Given the description of an element on the screen output the (x, y) to click on. 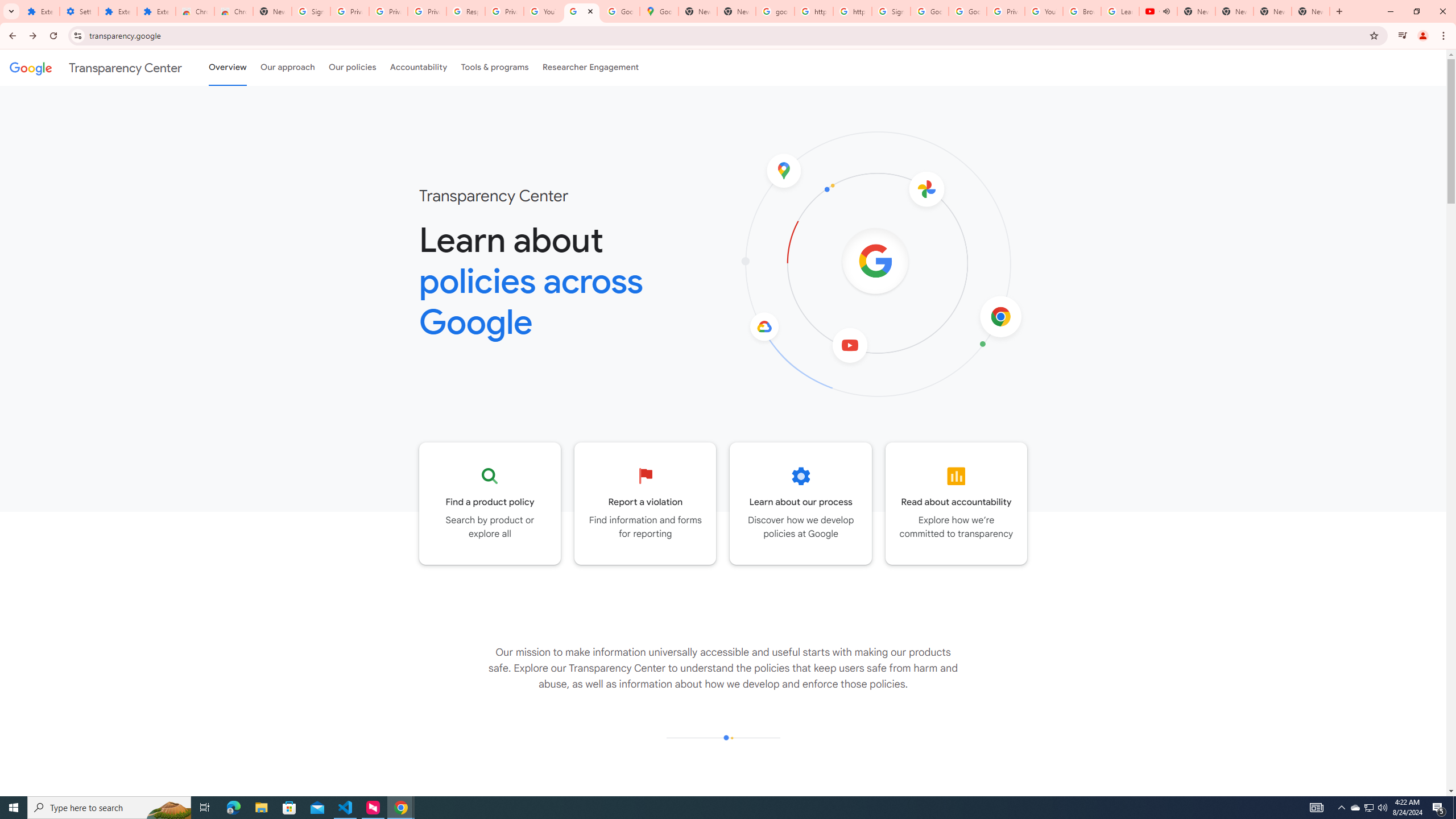
Google Maps (659, 11)
Chrome Web Store (194, 11)
Chrome Web Store - Themes (233, 11)
Tools & programs (494, 67)
New Tab (1311, 11)
Go to the Our process page (800, 503)
Transparency Center (95, 67)
Our policies (351, 67)
Extensions (117, 11)
